Given the description of an element on the screen output the (x, y) to click on. 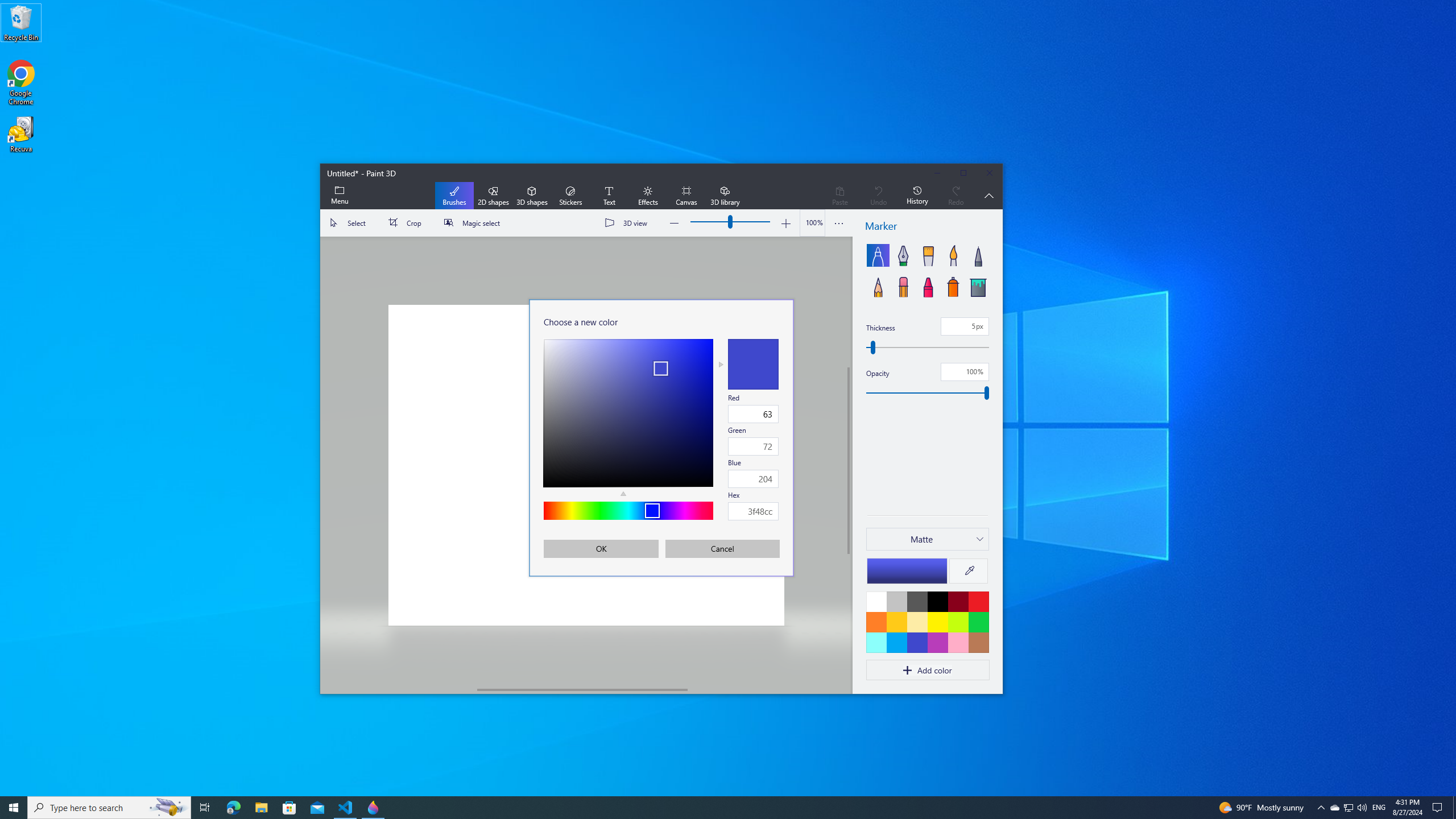
Tray Input Indicator - English (United States) (1378, 807)
Task View (204, 807)
Recuva (21, 133)
Microsoft Edge (233, 807)
Visual Studio Code - 1 running window (345, 807)
Microsoft Store (1333, 807)
Paint 3D - 1 running window (289, 807)
Q2790: 100% (373, 807)
Running applications (1361, 807)
Notification Chevron (706, 807)
Show desktop (1320, 807)
Search highlights icon opens search home window (1454, 807)
